Given the description of an element on the screen output the (x, y) to click on. 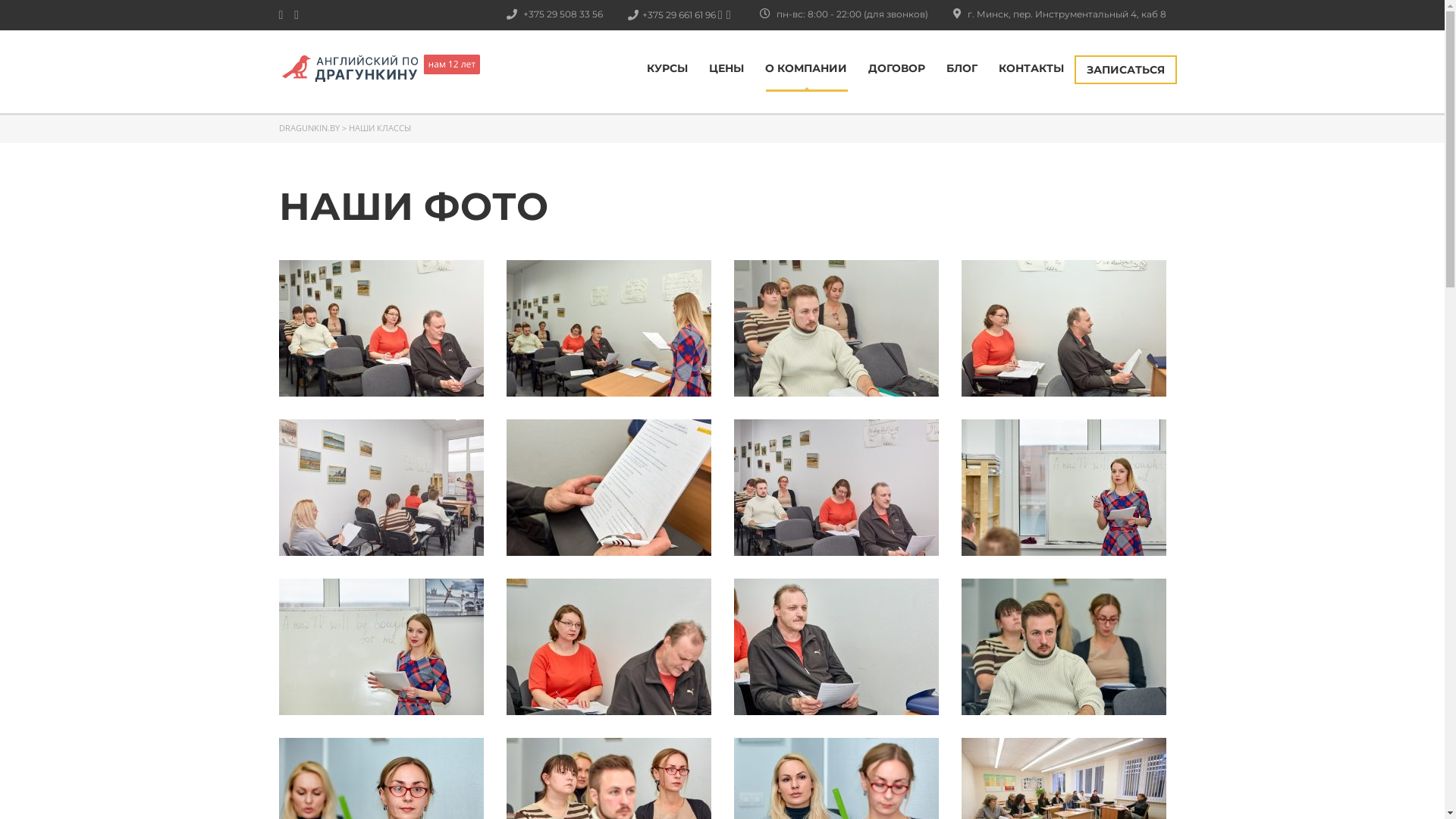
DRAGUNKIN.BY Element type: text (309, 127)
+375 29 661 61 96 Element type: text (683, 14)
+375 29 508 33 56 Element type: text (574, 12)
